Given the description of an element on the screen output the (x, y) to click on. 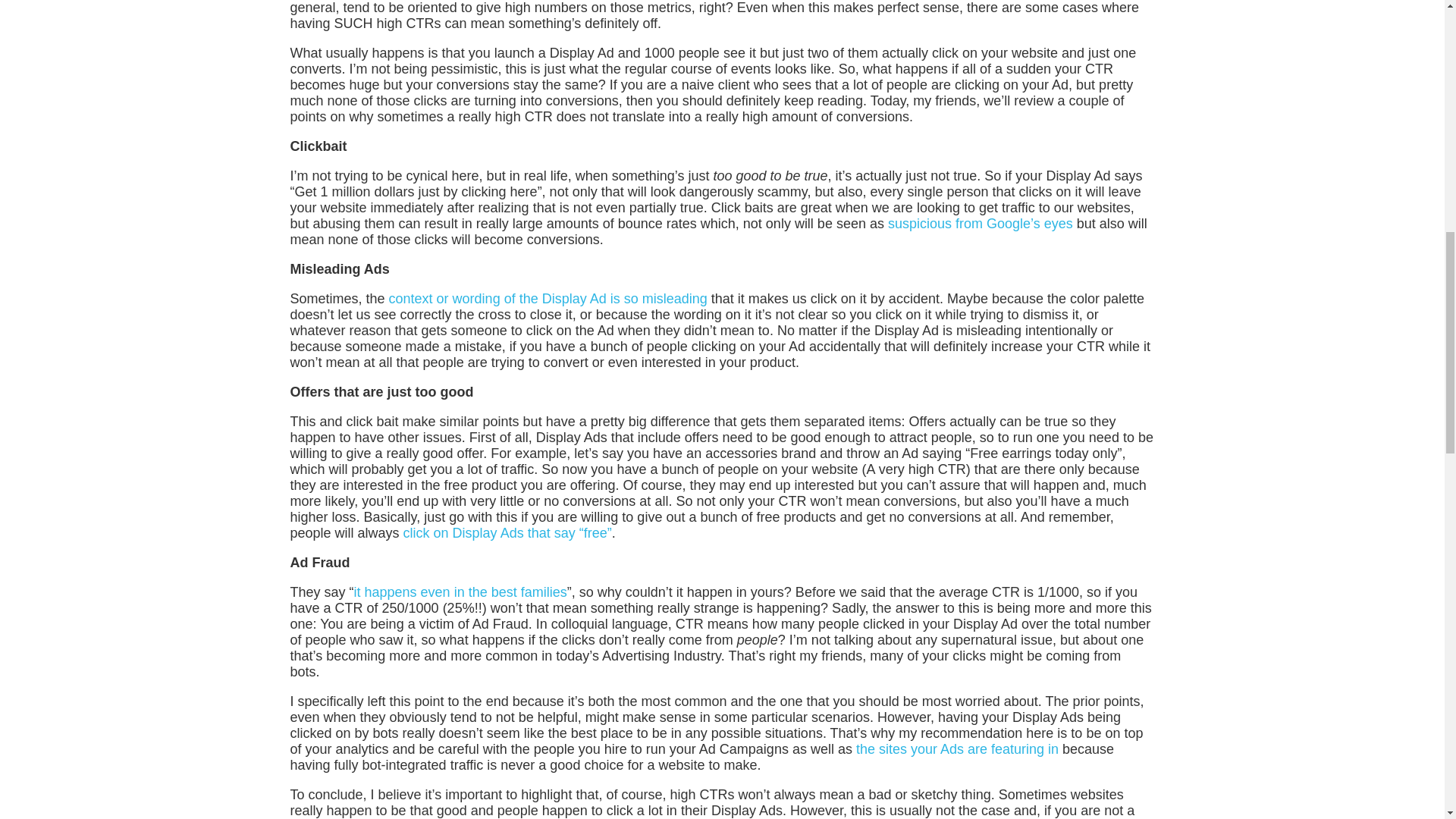
context or wording of the Display Ad is so misleading (549, 298)
the sites your Ads are featuring in (957, 749)
it happens even in the best families (460, 591)
